Given the description of an element on the screen output the (x, y) to click on. 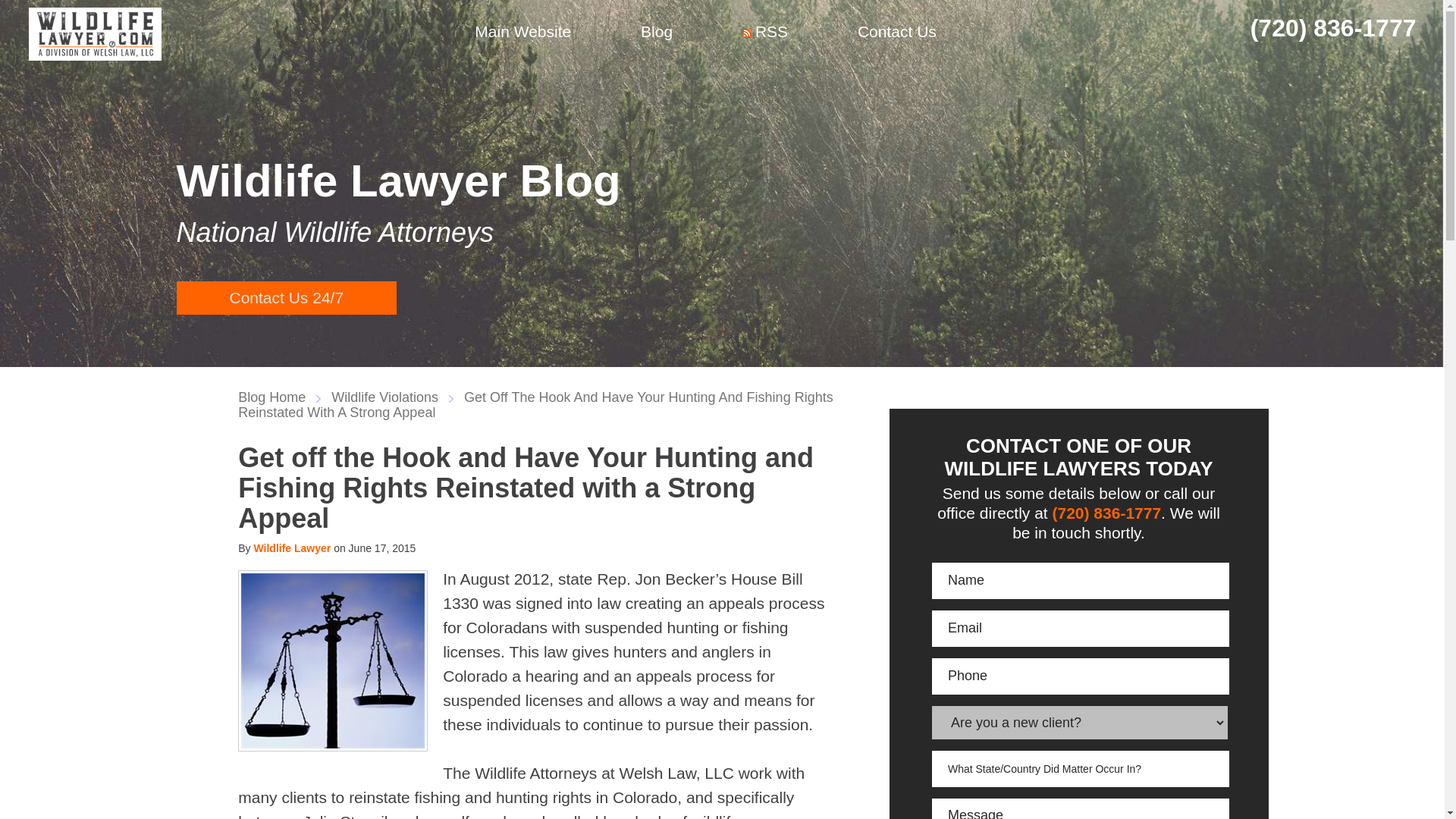
Blog Home (279, 396)
Wildlife Lawyers (95, 33)
Wildlife Lawyer (291, 547)
Main Website (523, 33)
Wildlife Violations (391, 396)
RSS (765, 33)
Contact Us (897, 33)
Blog (656, 33)
